Given the description of an element on the screen output the (x, y) to click on. 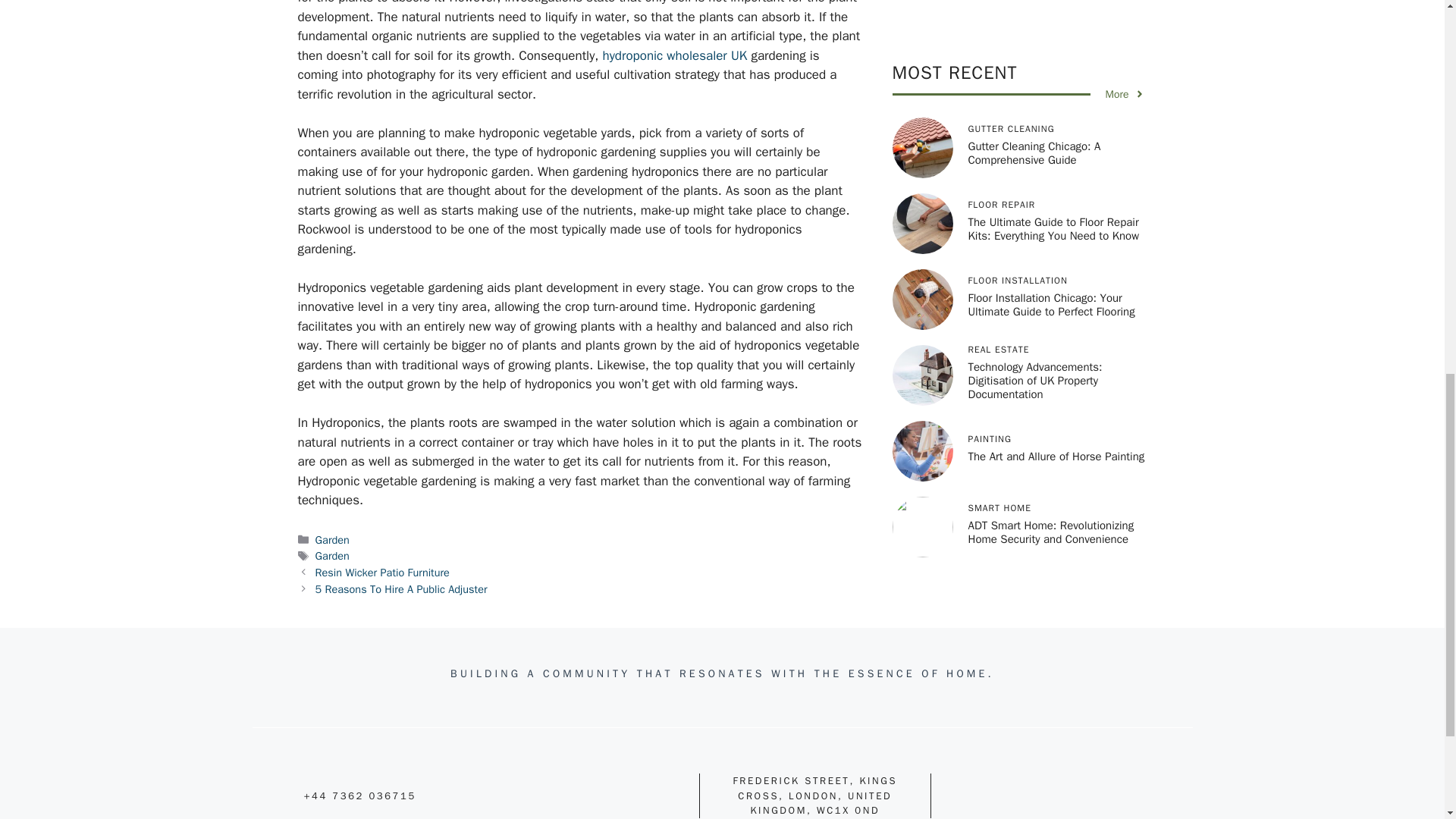
Resin Wicker Patio Furniture (382, 572)
5 Reasons To Hire A Public Adjuster (401, 589)
Garden (332, 555)
The Art and Allure of Horse Painting (1056, 2)
hydroponic wholesaler UK (674, 55)
Garden (332, 540)
